Given the description of an element on the screen output the (x, y) to click on. 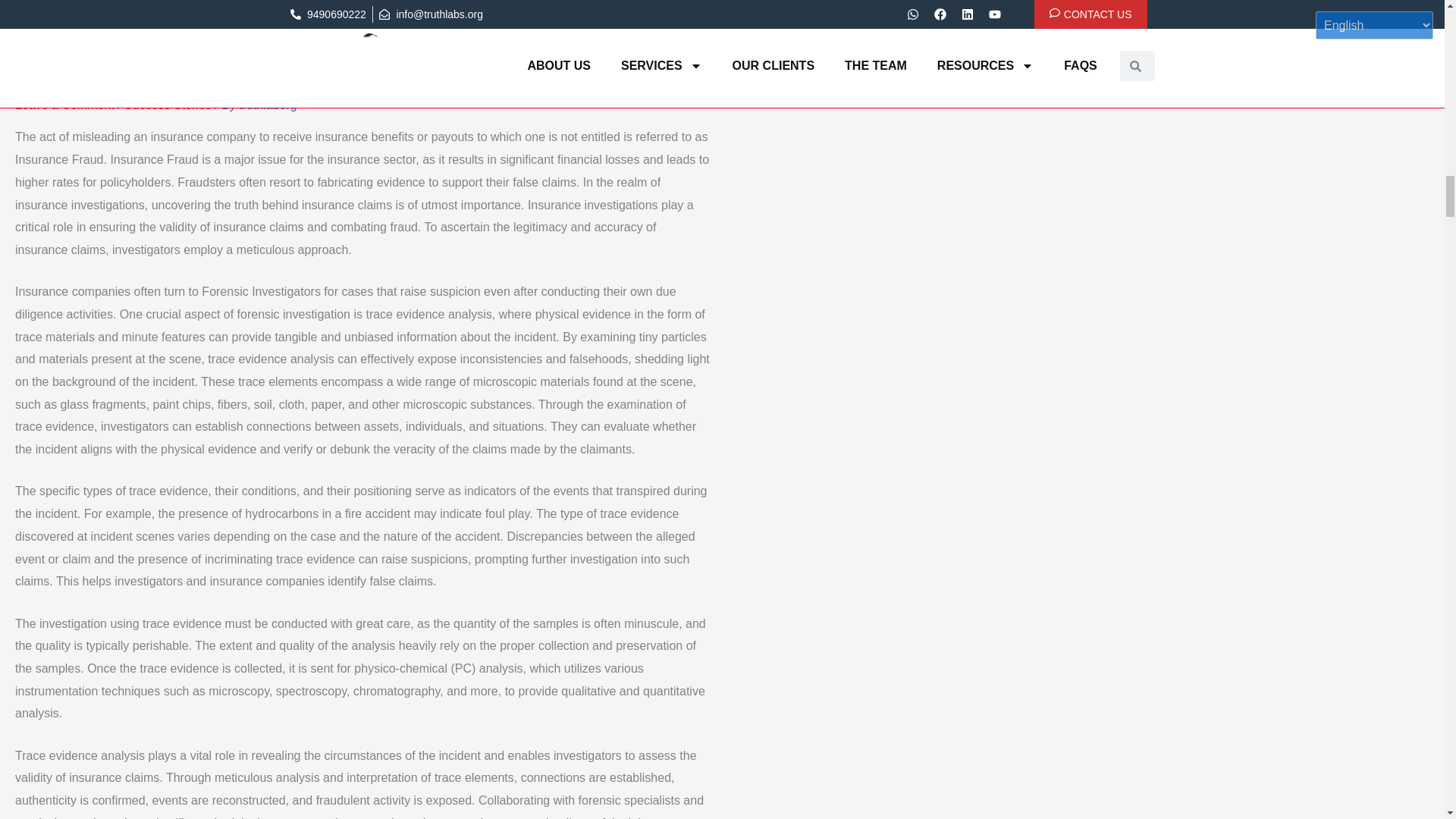
View all posts by truthlaborg (267, 104)
